Given the description of an element on the screen output the (x, y) to click on. 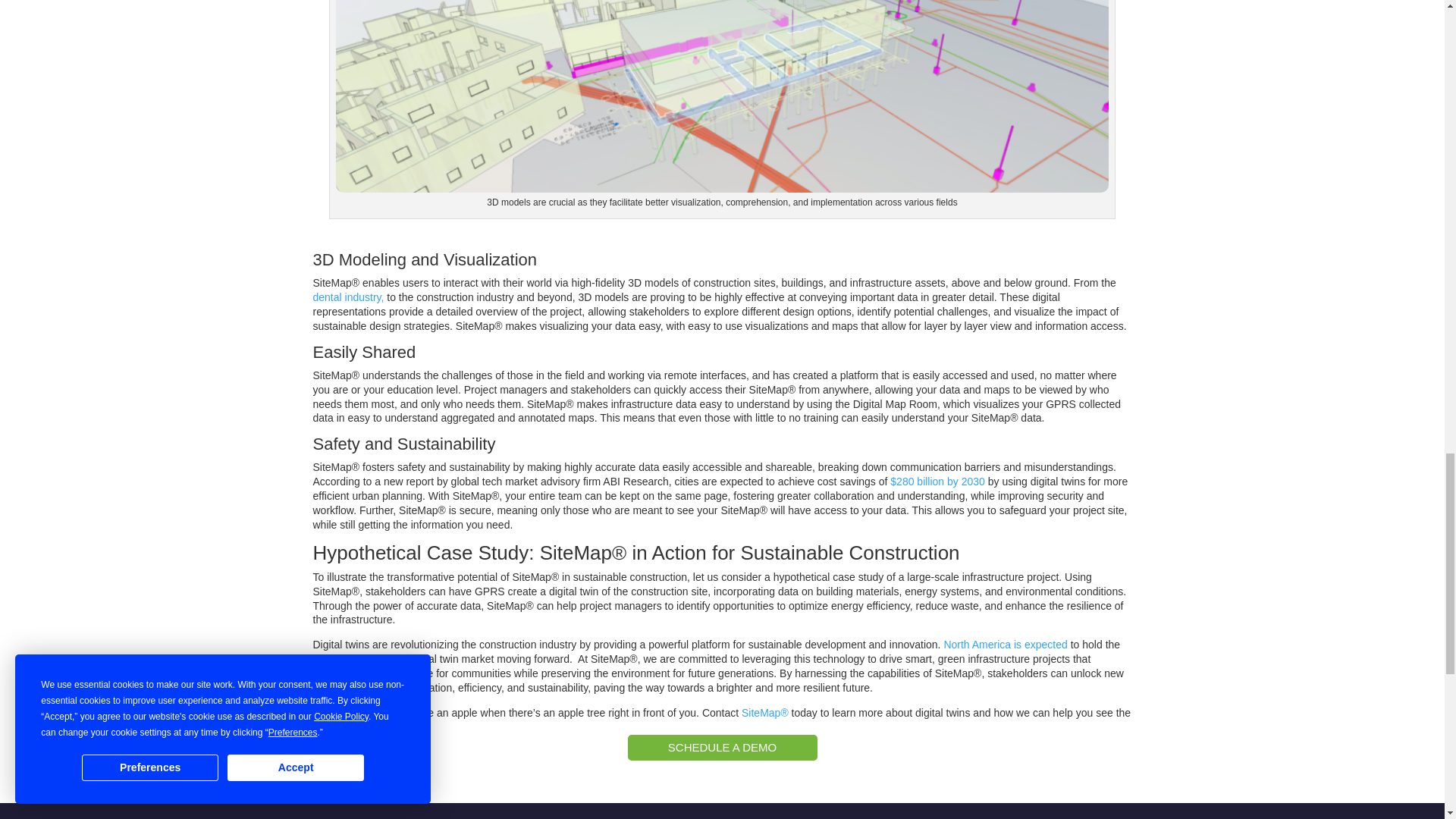
dental industry, (348, 297)
SCHEDULE A DEMO (721, 747)
North America is expected (1005, 644)
